Given the description of an element on the screen output the (x, y) to click on. 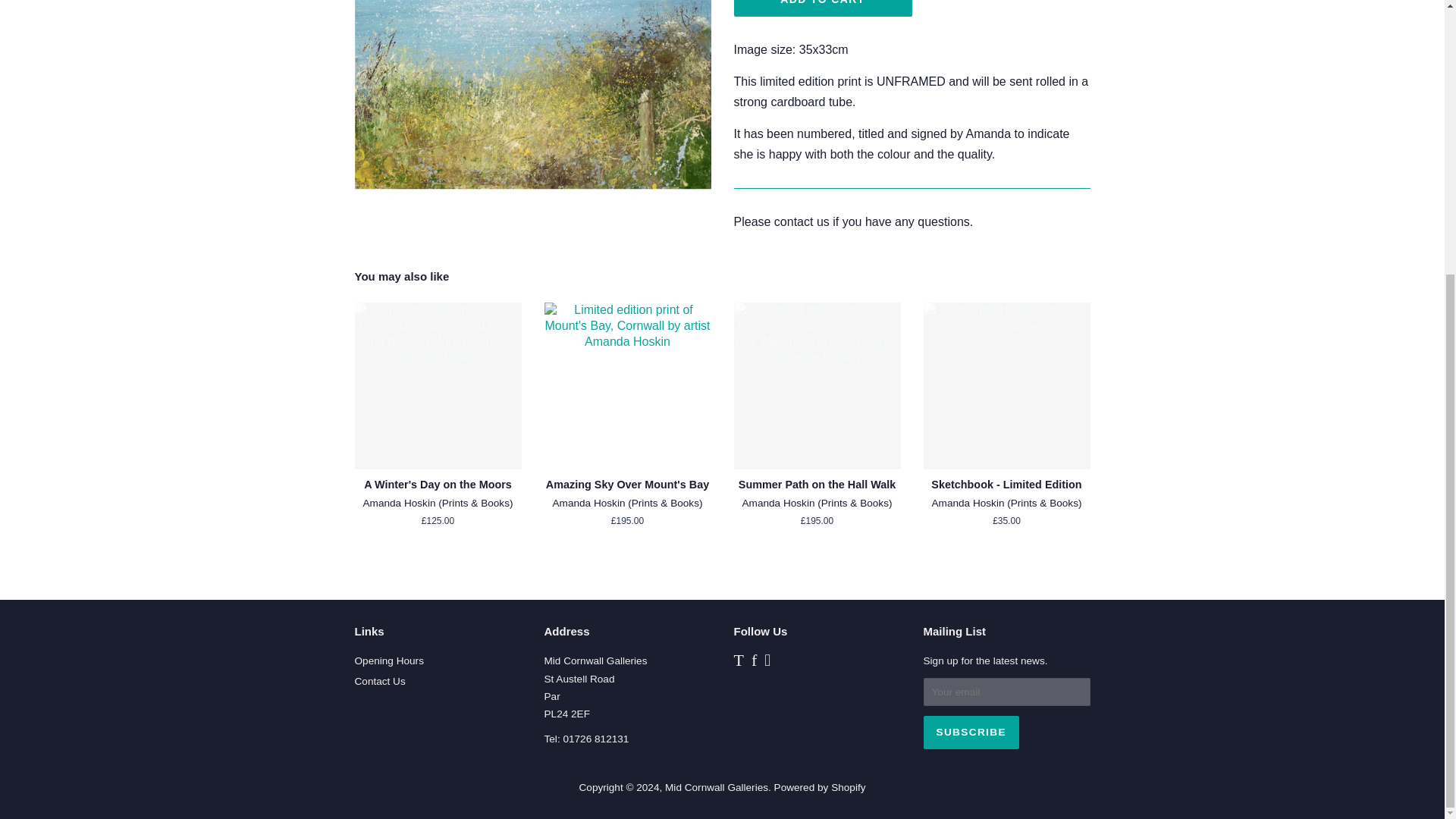
Subscribe (971, 732)
